Given the description of an element on the screen output the (x, y) to click on. 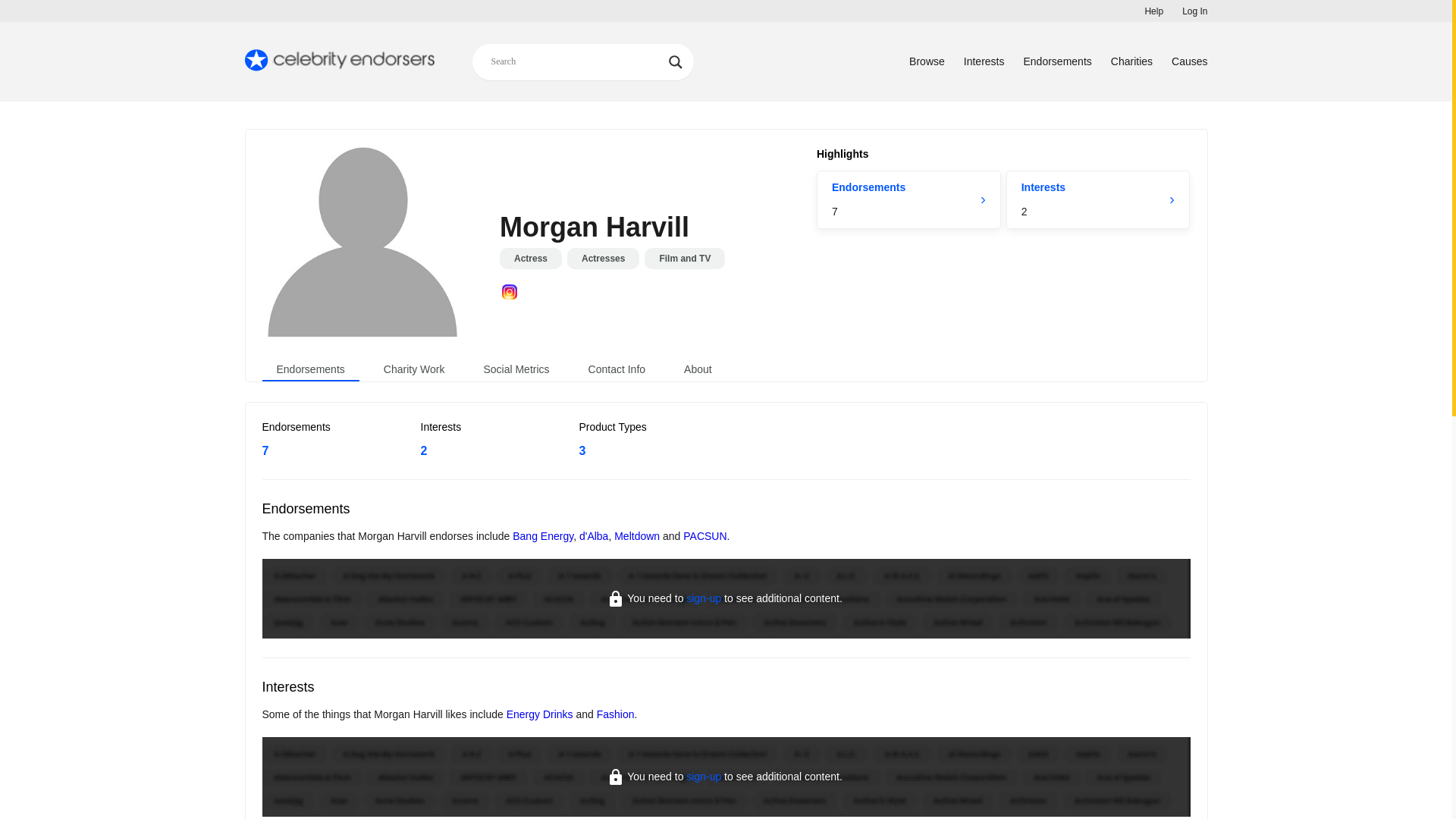
Fashion (908, 199)
Charity Work (615, 714)
Browse (414, 369)
Charities (926, 61)
Endorsements (1131, 61)
Film and TV (1057, 61)
Help (685, 258)
Bang Energy (1153, 10)
sign-up (542, 535)
Social Metrics (702, 776)
About (515, 369)
Energy Drinks (697, 369)
Interests (539, 714)
PACSUN (983, 61)
